Given the description of an element on the screen output the (x, y) to click on. 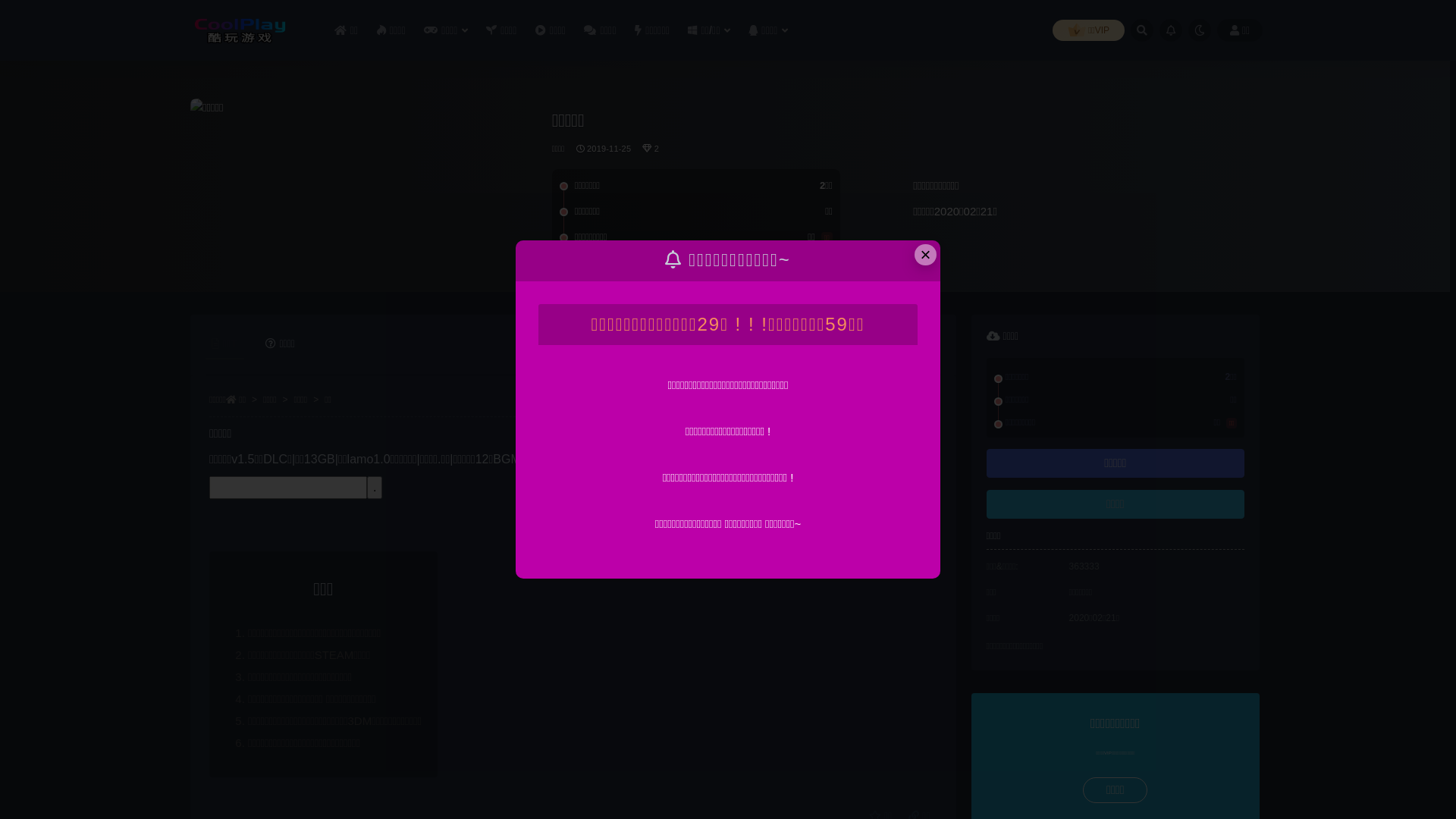
. Element type: text (374, 487)
